Given the description of an element on the screen output the (x, y) to click on. 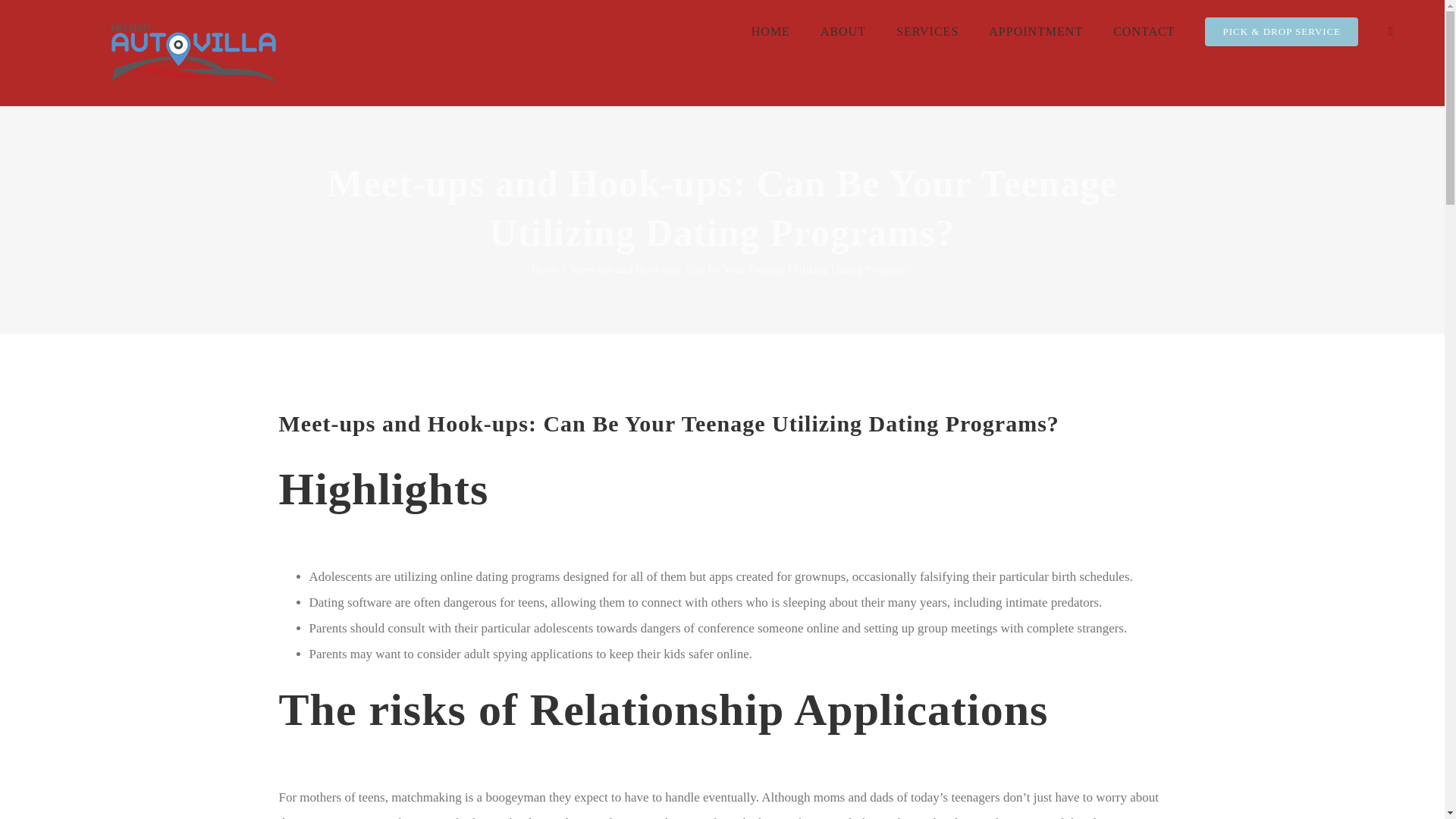
CONTACT (1143, 31)
Home (545, 268)
SERVICES (927, 31)
APPOINTMENT (1035, 31)
